Given the description of an element on the screen output the (x, y) to click on. 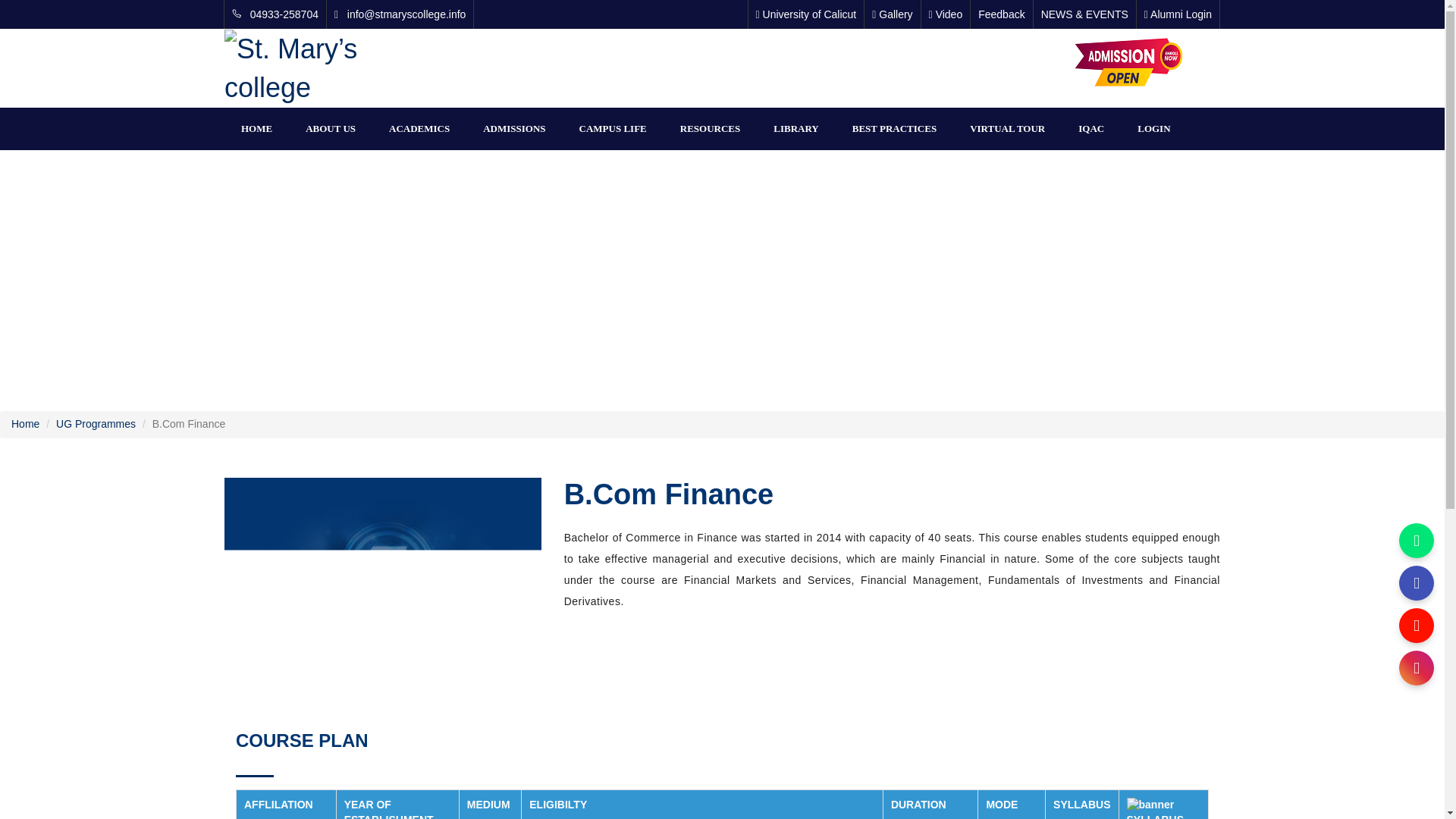
University of Calicut (806, 14)
ACADEMICS (418, 128)
Gallery (891, 14)
HOME (256, 128)
ABOUT US (330, 128)
Alumni Login (1177, 14)
Video (945, 14)
  04933-258704 (275, 14)
Feedback (1000, 14)
